Given the description of an element on the screen output the (x, y) to click on. 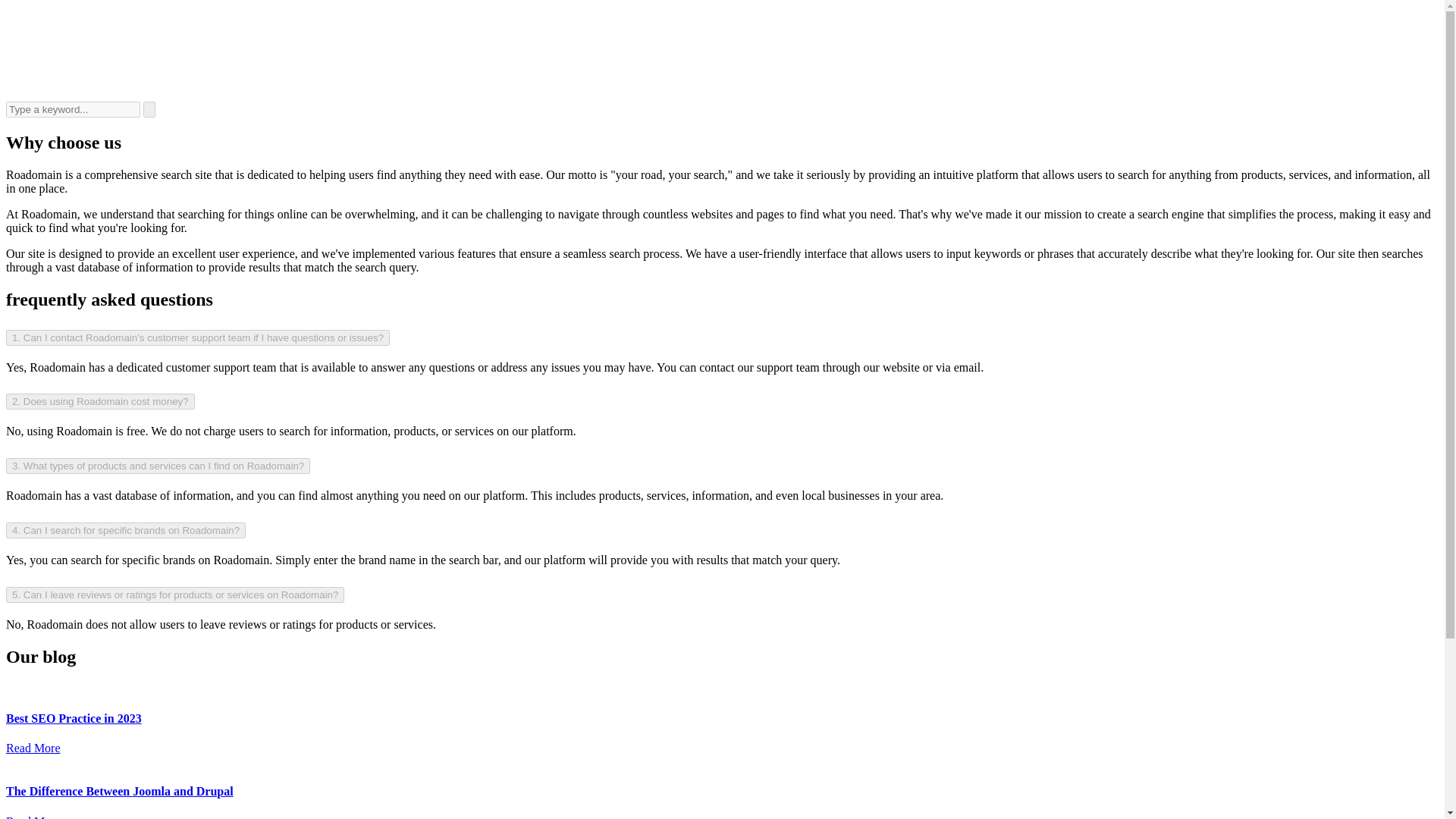
The Difference Between Joomla and Drupal (118, 790)
Read More (33, 748)
Read More (33, 816)
4. Can I search for specific brands on Roadomain? (125, 530)
Best SEO Practice in 2023 (73, 717)
2. Does using Roadomain cost money? (100, 401)
